Given the description of an element on the screen output the (x, y) to click on. 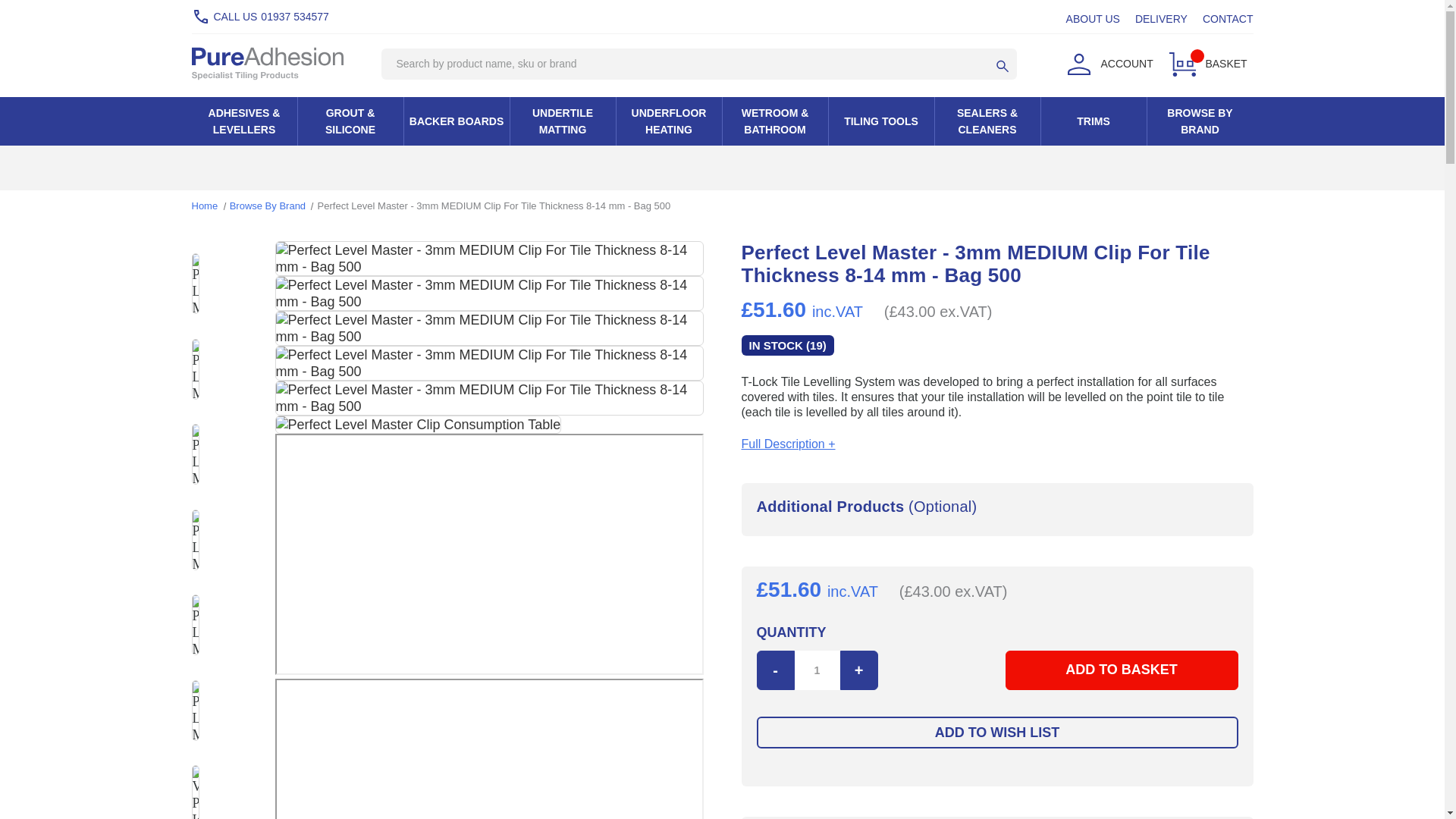
1 (817, 670)
CONTACT (1227, 18)
Add to Basket (1121, 670)
BACKER BOARDS (455, 121)
ABOUT US (1092, 18)
01937 534577 (294, 16)
BASKET (1205, 63)
DELIVERY (1161, 18)
Pure Adhesion Limited (266, 63)
ACCOUNT (1106, 63)
Account Icon (1077, 63)
